Given the description of an element on the screen output the (x, y) to click on. 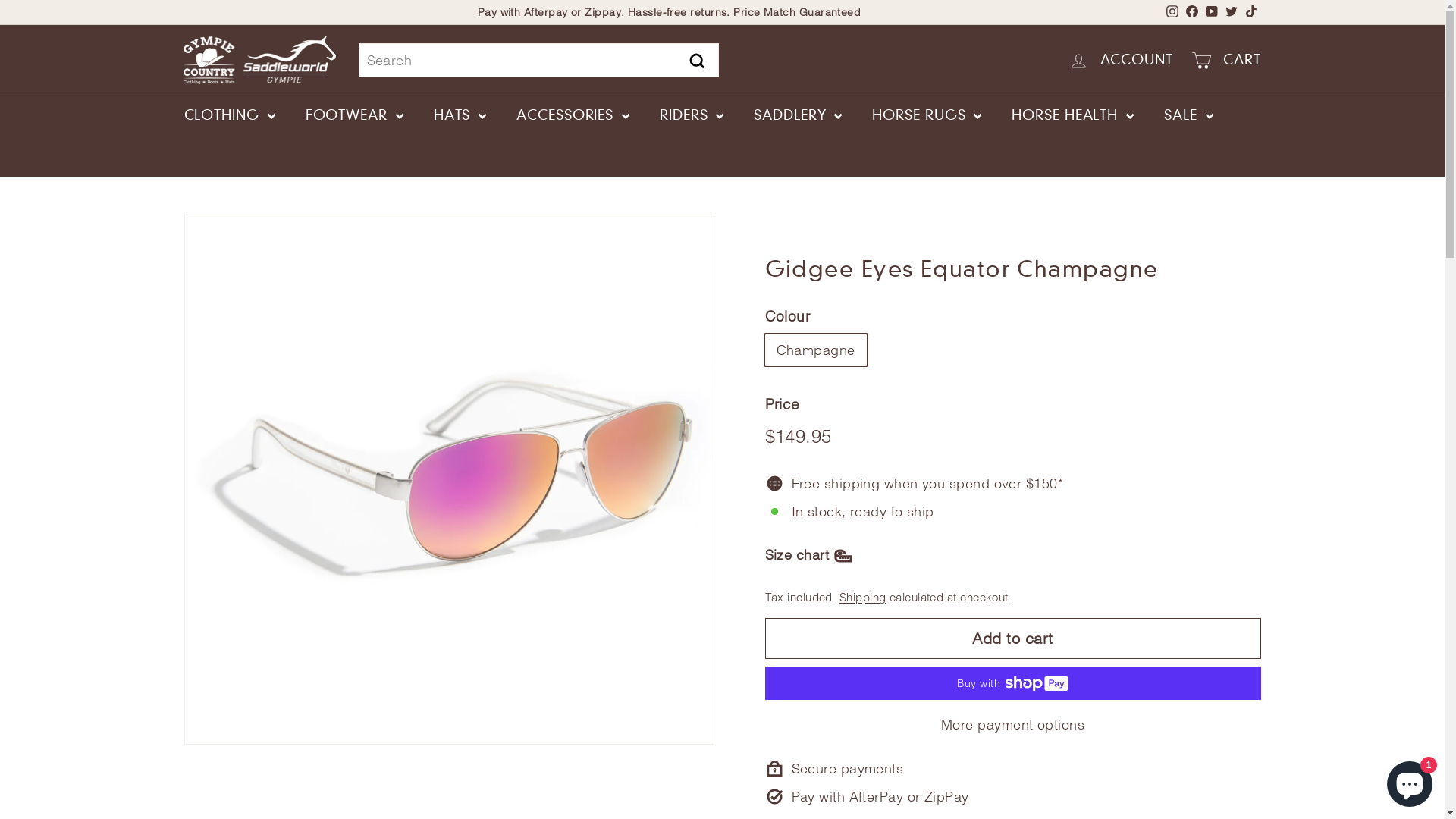
twitter
Twitter Element type: text (1230, 12)
YouTube Element type: text (1210, 12)
CART Element type: text (1226, 59)
More payment options Element type: text (1012, 724)
Shopify online store chat Element type: hover (1409, 780)
instagram
Instagram Element type: text (1171, 12)
Shipping Element type: text (862, 596)
ACCOUNT Element type: text (1120, 59)
Add to cart Element type: text (1012, 638)
Facebook Element type: text (1191, 12)
TikTok Element type: text (1250, 12)
